Given the description of an element on the screen output the (x, y) to click on. 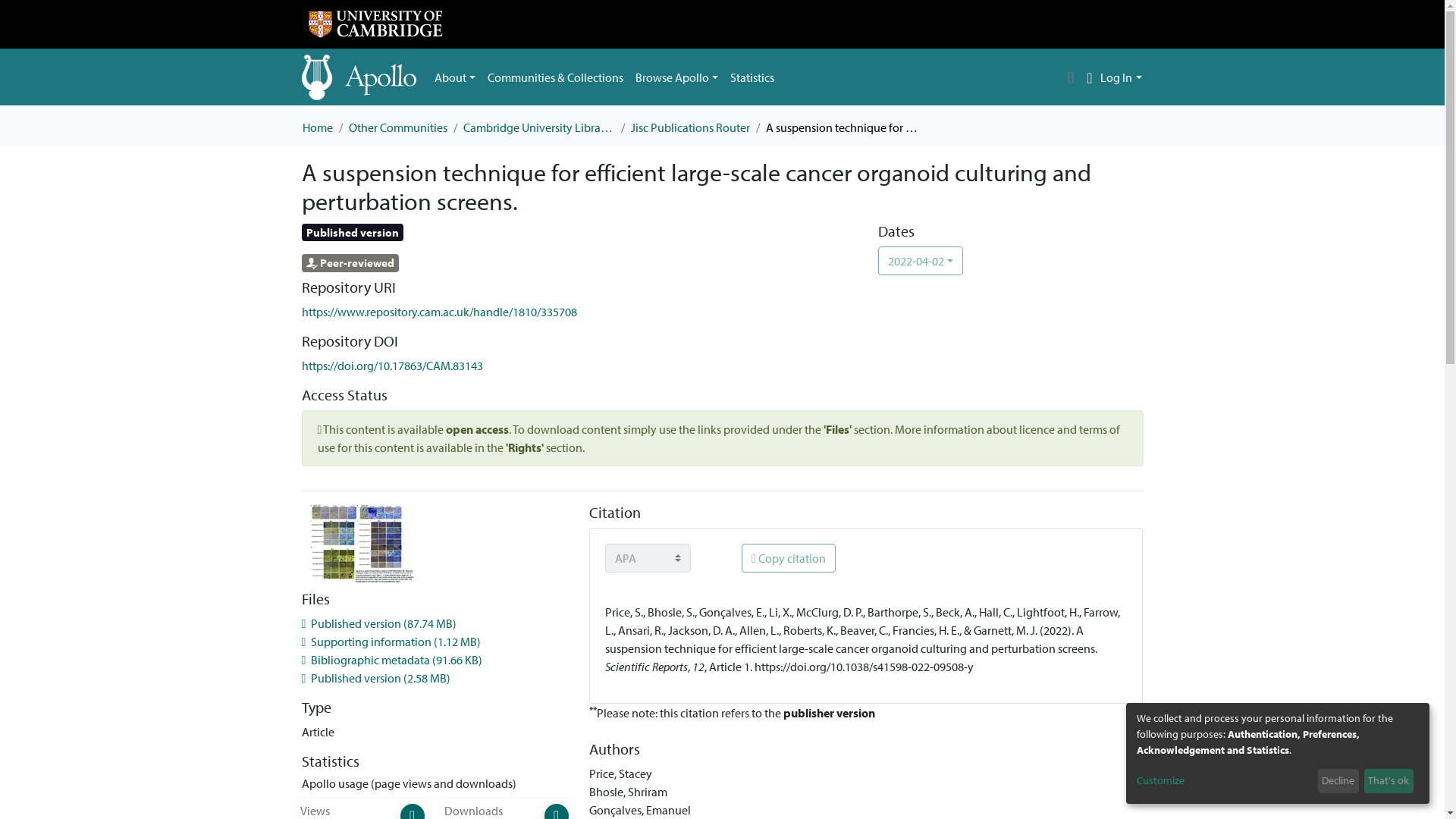
Cambridge University Libraries (538, 126)
Statistics (751, 77)
Jisc Publications Router (689, 126)
Browse Apollo (675, 77)
Home (316, 126)
Other Communities (397, 126)
Copy citation (788, 557)
2022-04-02 (919, 260)
Search (1070, 76)
Statistics (751, 77)
Language switch (1089, 76)
About (454, 77)
Log In (1120, 77)
